Given the description of an element on the screen output the (x, y) to click on. 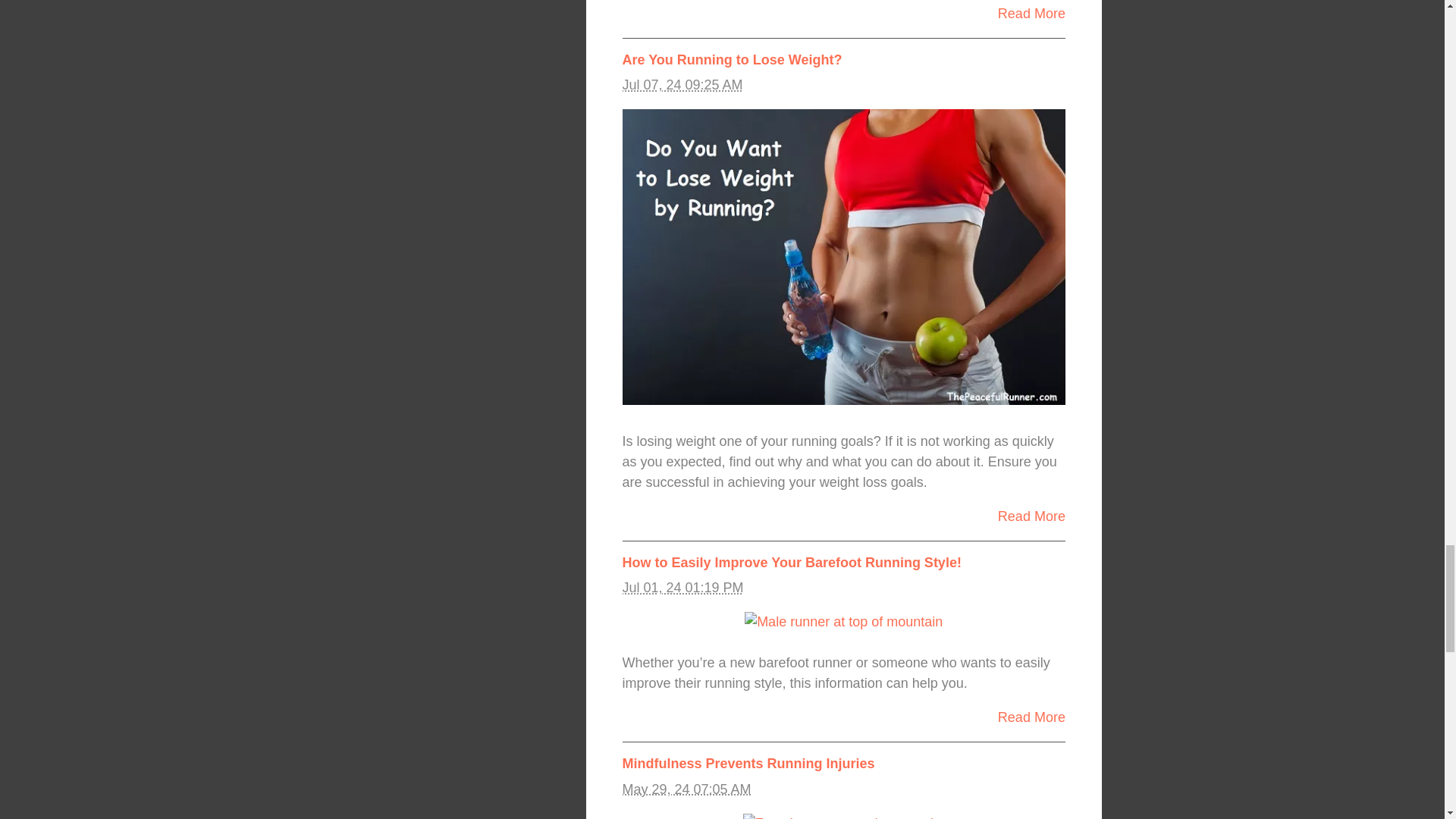
2024-07-01T13:19:11-0400 (681, 587)
2024-05-29T07:05:34-0400 (686, 789)
2024-07-07T09:25:15-0400 (681, 84)
